Given the description of an element on the screen output the (x, y) to click on. 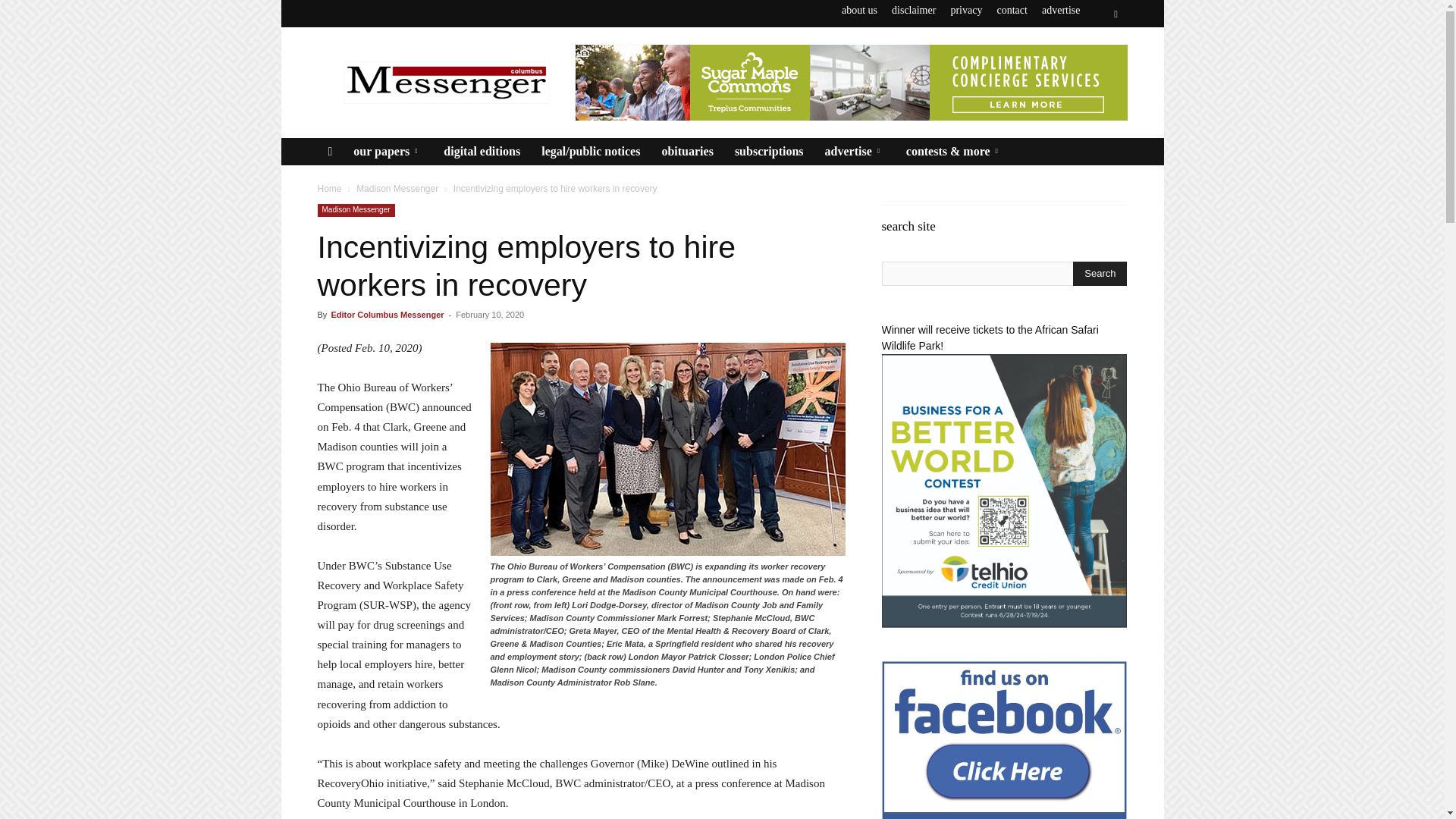
privacy (965, 9)
about us (859, 9)
Search (1085, 70)
advertise (1061, 9)
Search (1099, 273)
Columbus Messenger - Ohios Newspaper (445, 82)
our papers (387, 151)
contact (1010, 9)
View all posts in Madison Messenger (397, 188)
disclaimer (913, 9)
